Given the description of an element on the screen output the (x, y) to click on. 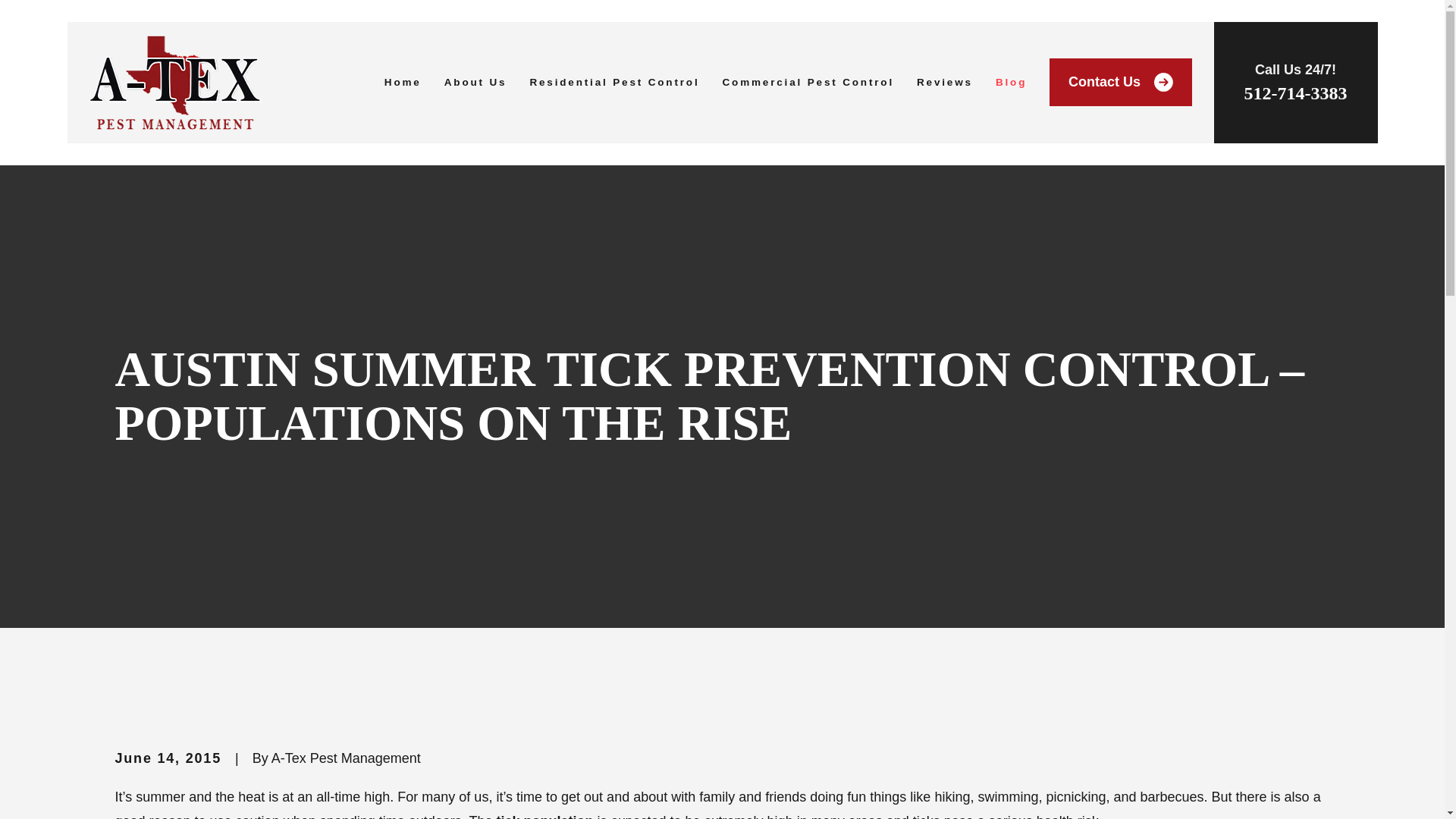
About Us (475, 82)
Residential Pest Control (613, 82)
Home (175, 82)
